Given the description of an element on the screen output the (x, y) to click on. 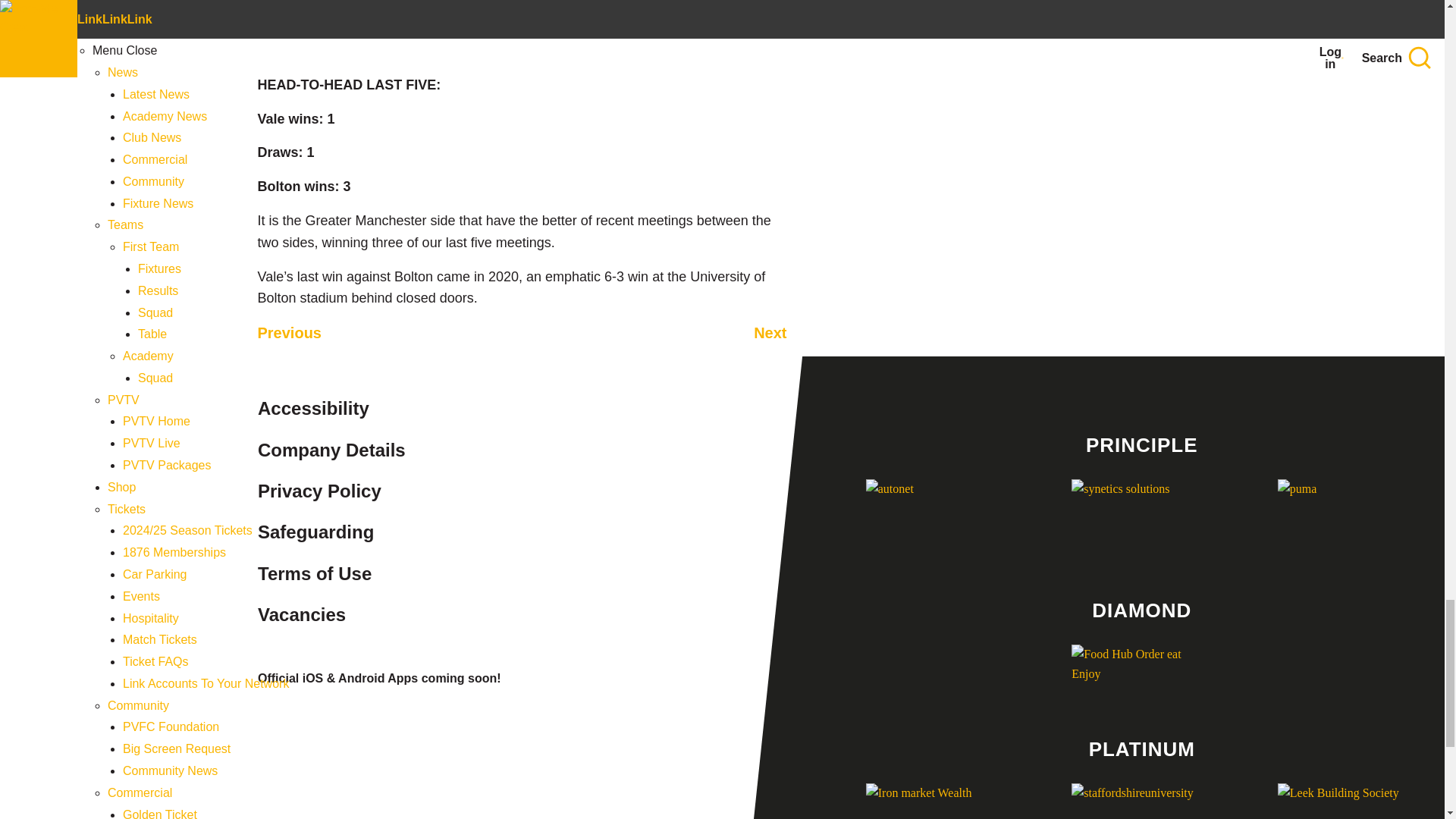
Synectics (1141, 518)
Foodhub (1141, 670)
Staffordshire Uni (1141, 800)
Autonet (936, 518)
Puma (1348, 518)
Ironmarket (936, 800)
